Given the description of an element on the screen output the (x, y) to click on. 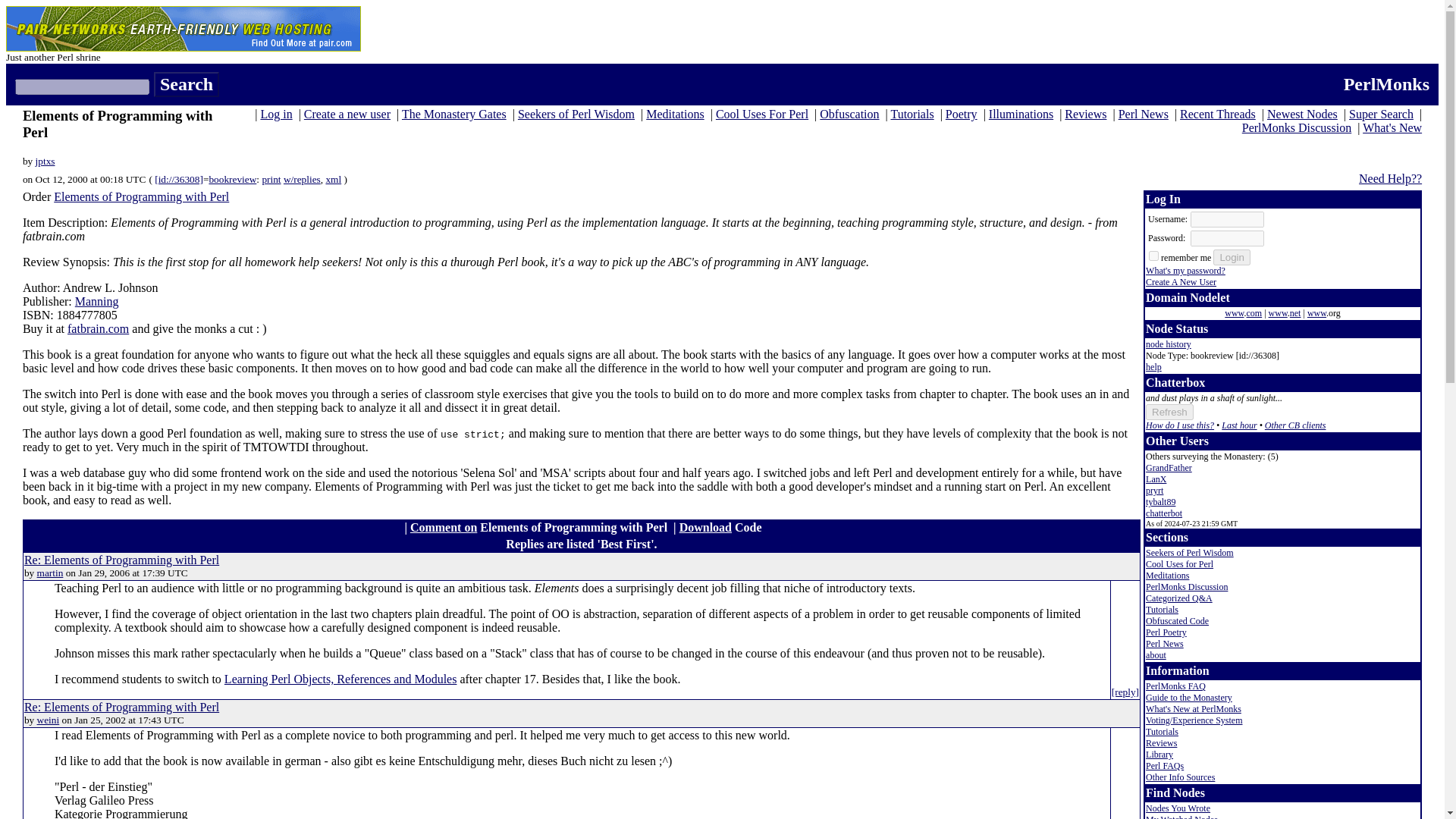
Poetry (960, 113)
tybalt89's home node. Level 18 (1159, 501)
LanX's home node. Level 26. Member of: pmdev (1155, 479)
Newest Nodes (1302, 113)
Tutorials (911, 113)
What's New (1392, 127)
Seekers of Perl Wisdom (576, 113)
Perl News (1143, 113)
pryrt's home node. Level 19 (1154, 490)
Download (705, 526)
weini (48, 719)
Recent Threads (1217, 113)
Log in (276, 113)
Need Help?? (1390, 178)
jptxs (44, 161)
